Given the description of an element on the screen output the (x, y) to click on. 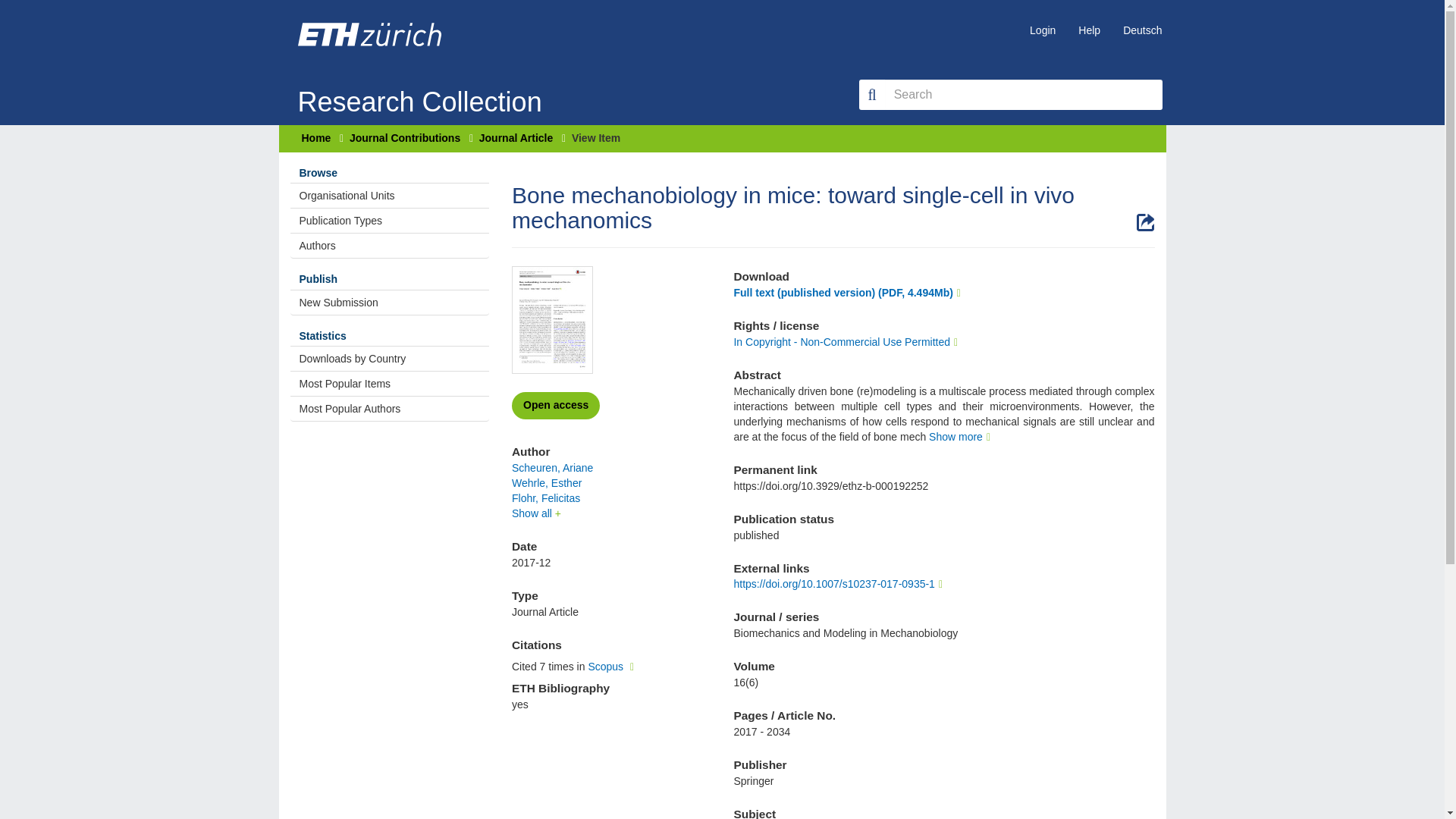
In Copyright - Non-Commercial Use Permitted (846, 341)
Scopus (612, 666)
Search placeholder header (1023, 94)
Organisational Units (389, 195)
Research Collection (419, 79)
Scheuren, Ariane (552, 467)
Wehrle, Esther (546, 482)
Journal Contributions (404, 137)
Journal Article (516, 137)
Help (1077, 29)
